Given the description of an element on the screen output the (x, y) to click on. 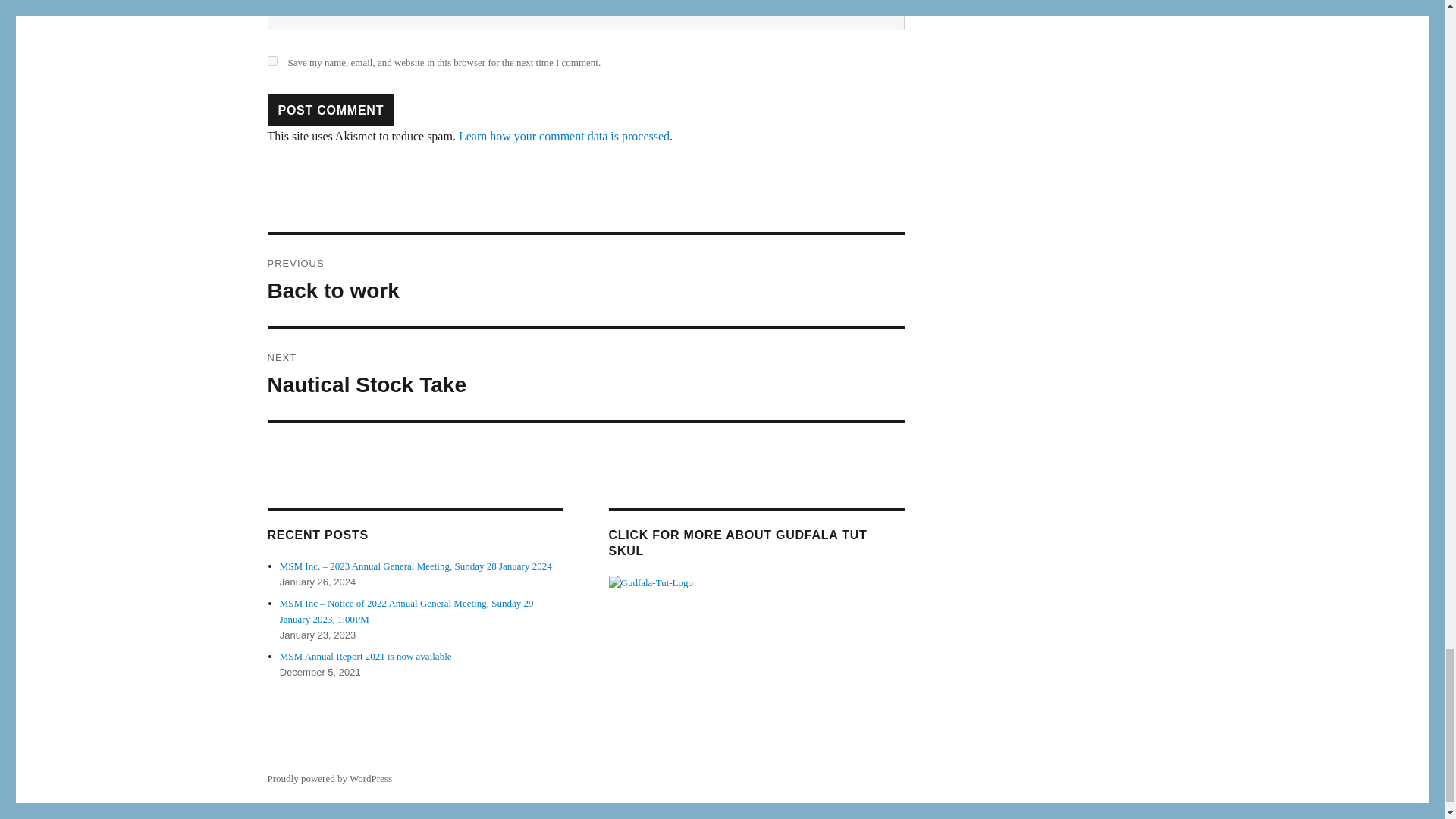
Post Comment (330, 110)
yes (271, 61)
